Given the description of an element on the screen output the (x, y) to click on. 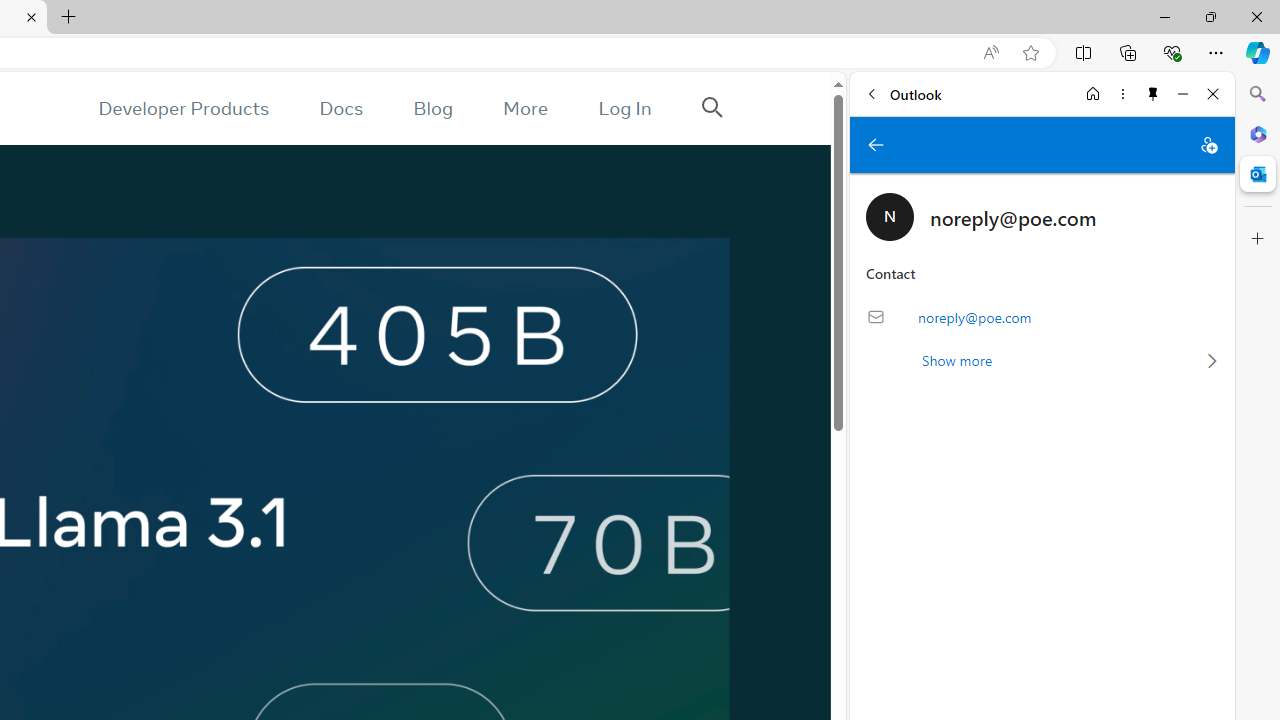
Developer Products (183, 108)
